Given the description of an element on the screen output the (x, y) to click on. 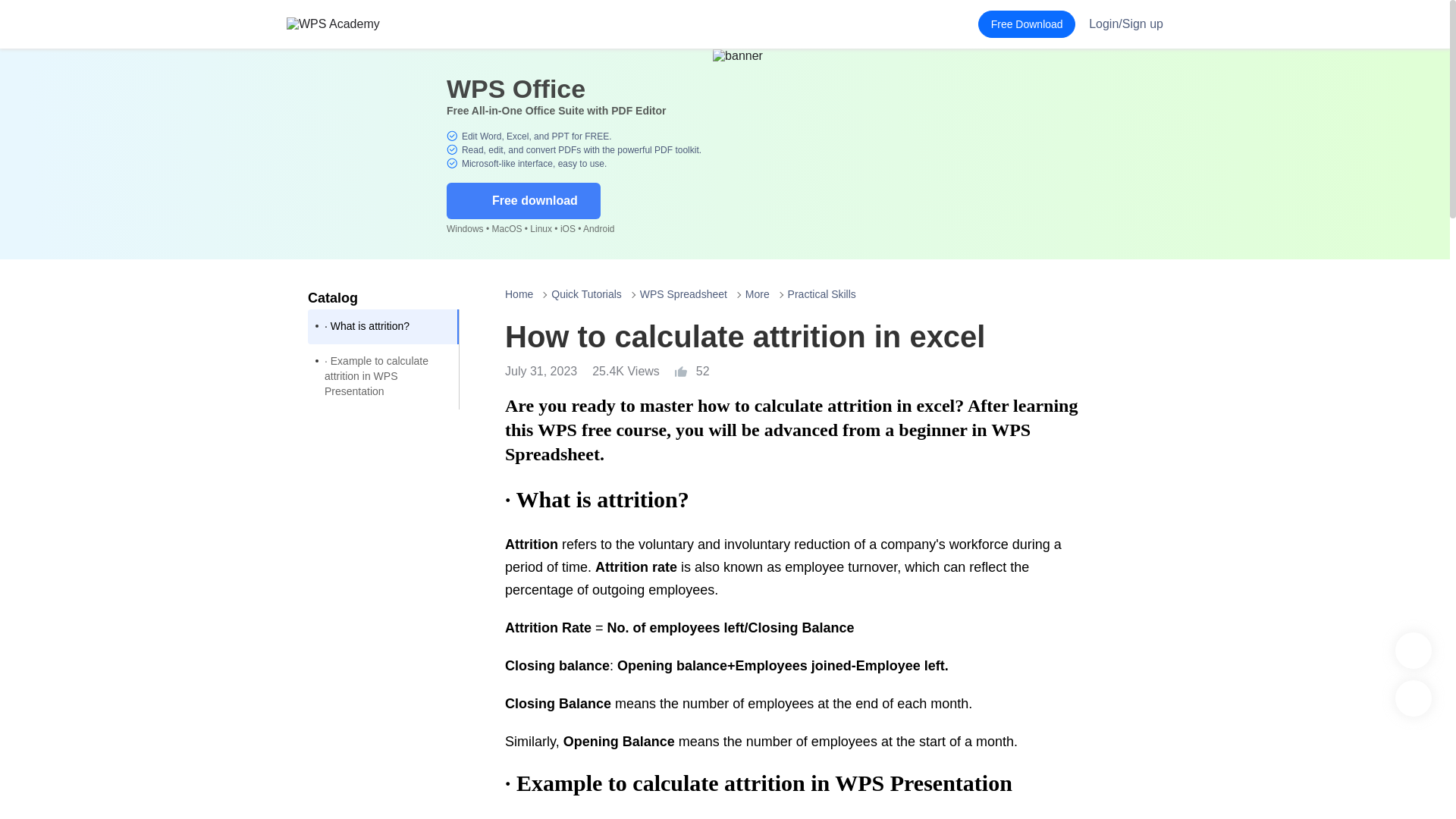
Quick Tutorials (586, 294)
WPS Spreadsheet (683, 294)
Home (518, 294)
More (757, 294)
Practical Skills (821, 294)
